Given the description of an element on the screen output the (x, y) to click on. 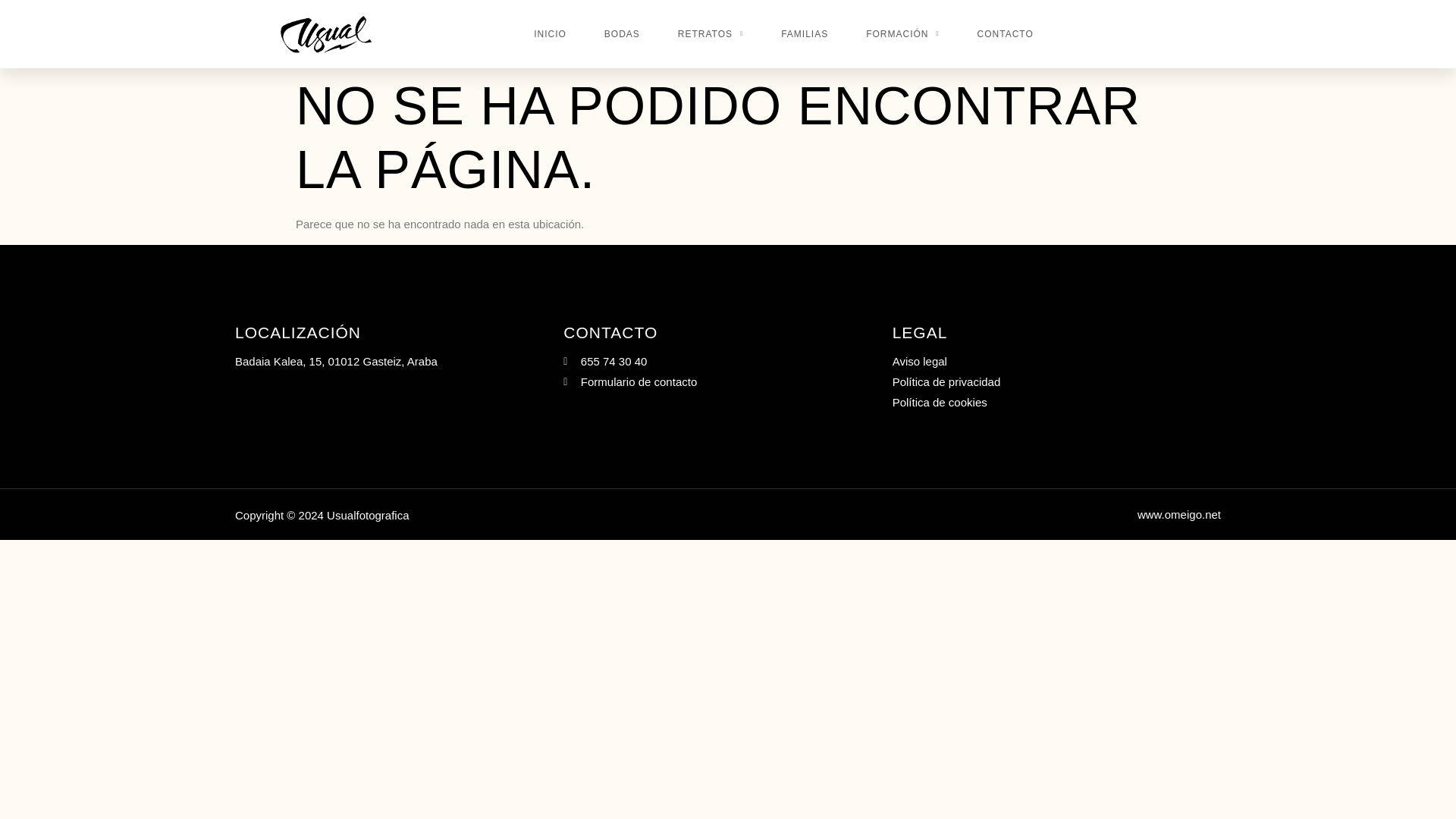
Badaia Kalea, 15, 01012 Gasteiz, Araba (398, 361)
RETRATOS (710, 34)
